Given the description of an element on the screen output the (x, y) to click on. 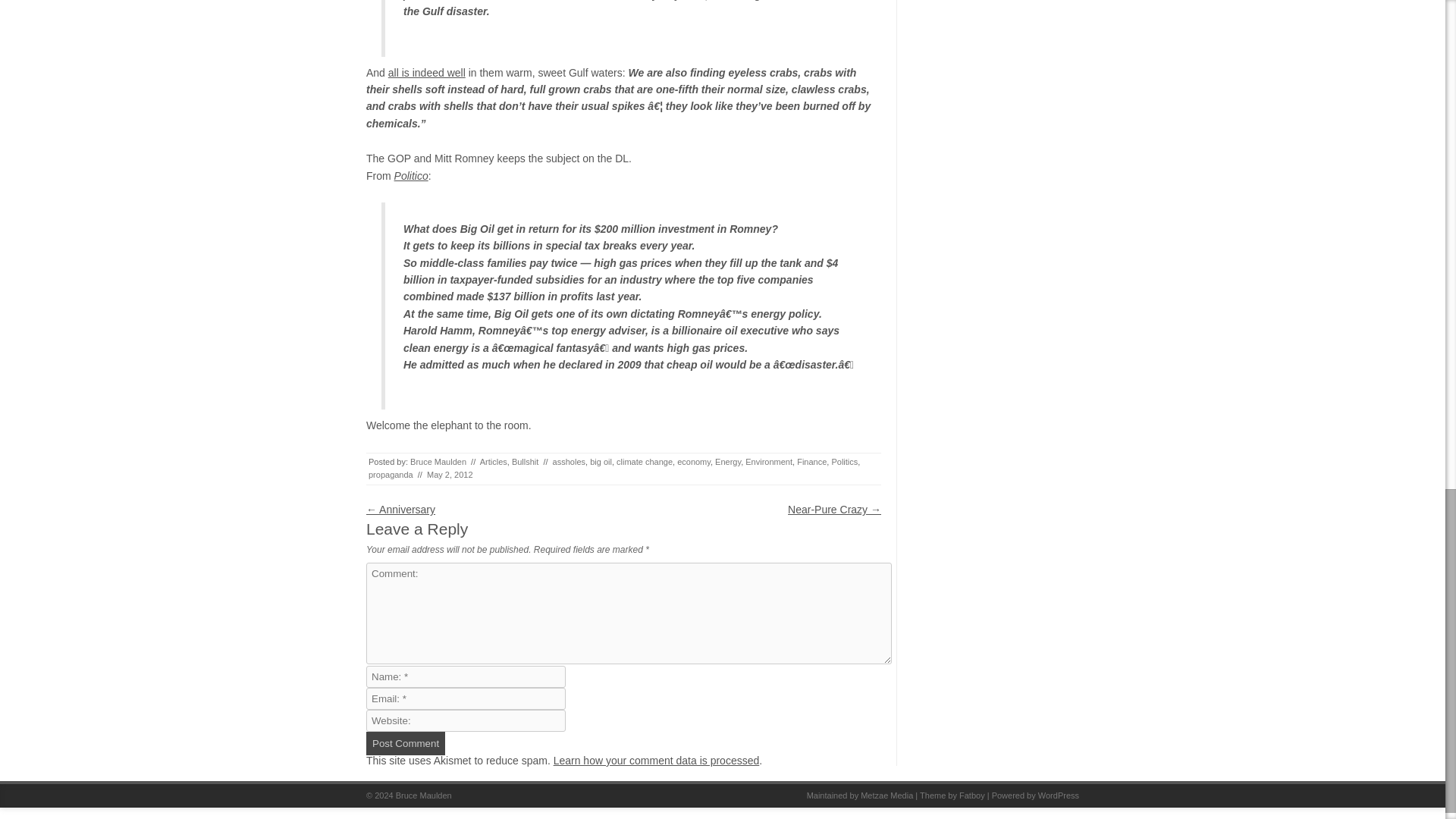
Energy (727, 461)
Politico (411, 175)
Leaf Theme (972, 795)
all is indeed well (426, 72)
economy (693, 461)
Post Comment (405, 743)
Learn how your comment data is processed (656, 760)
Politics (844, 461)
big oil (600, 461)
Environment (768, 461)
